Given the description of an element on the screen output the (x, y) to click on. 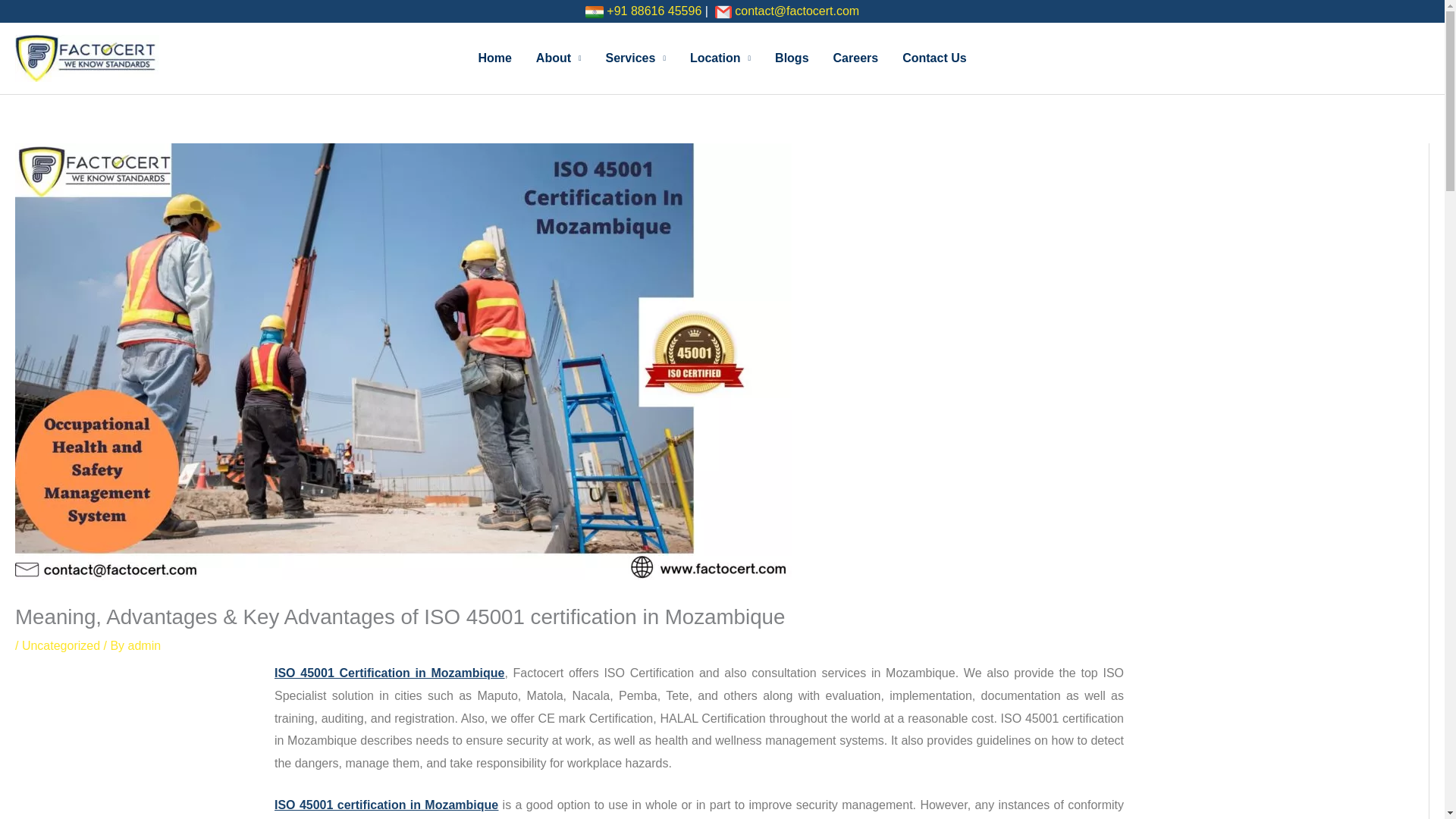
About (559, 57)
Services (636, 57)
View all posts by admin (144, 645)
Home (493, 57)
